Given the description of an element on the screen output the (x, y) to click on. 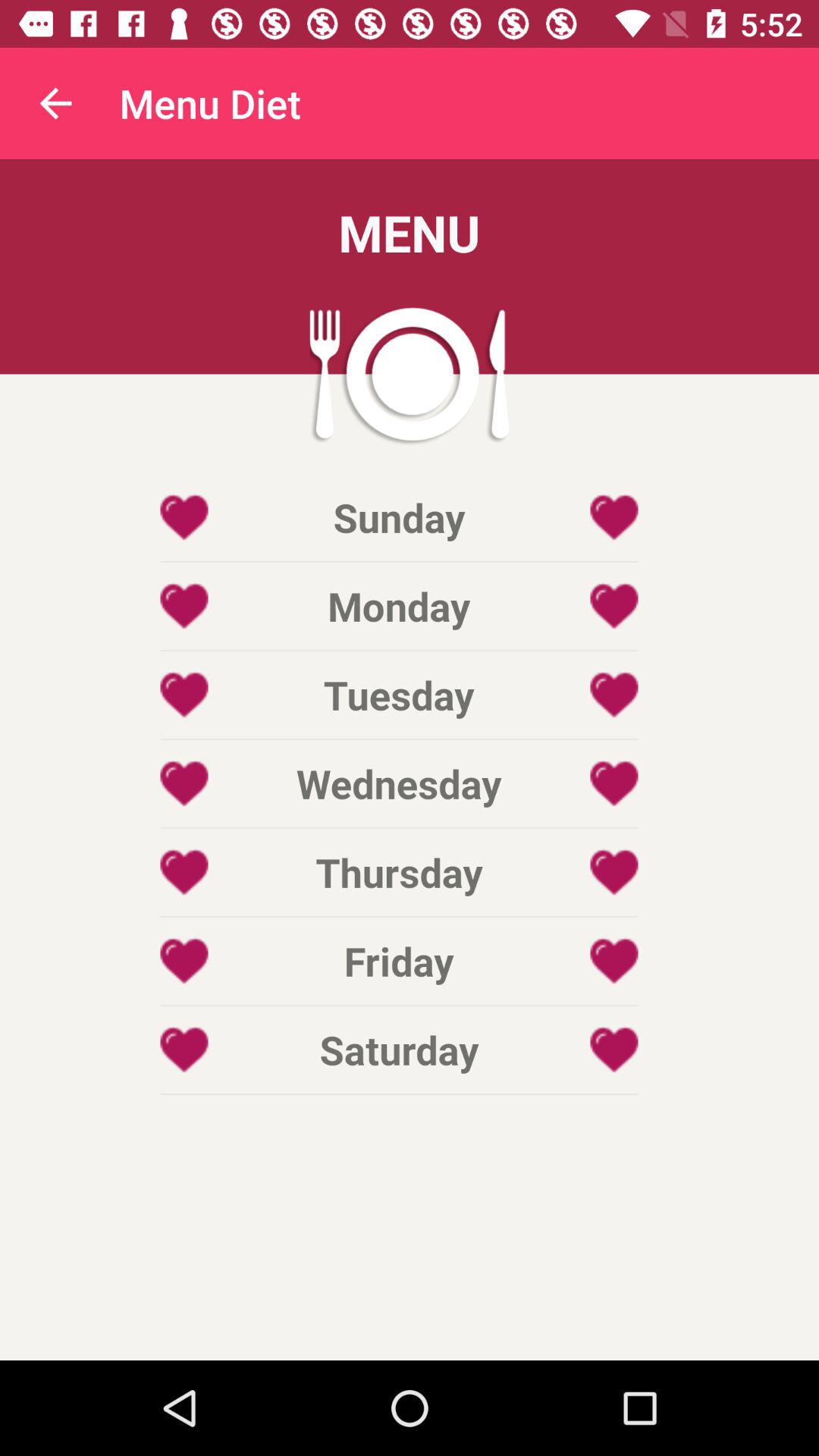
flip to saturday item (398, 1049)
